Given the description of an element on the screen output the (x, y) to click on. 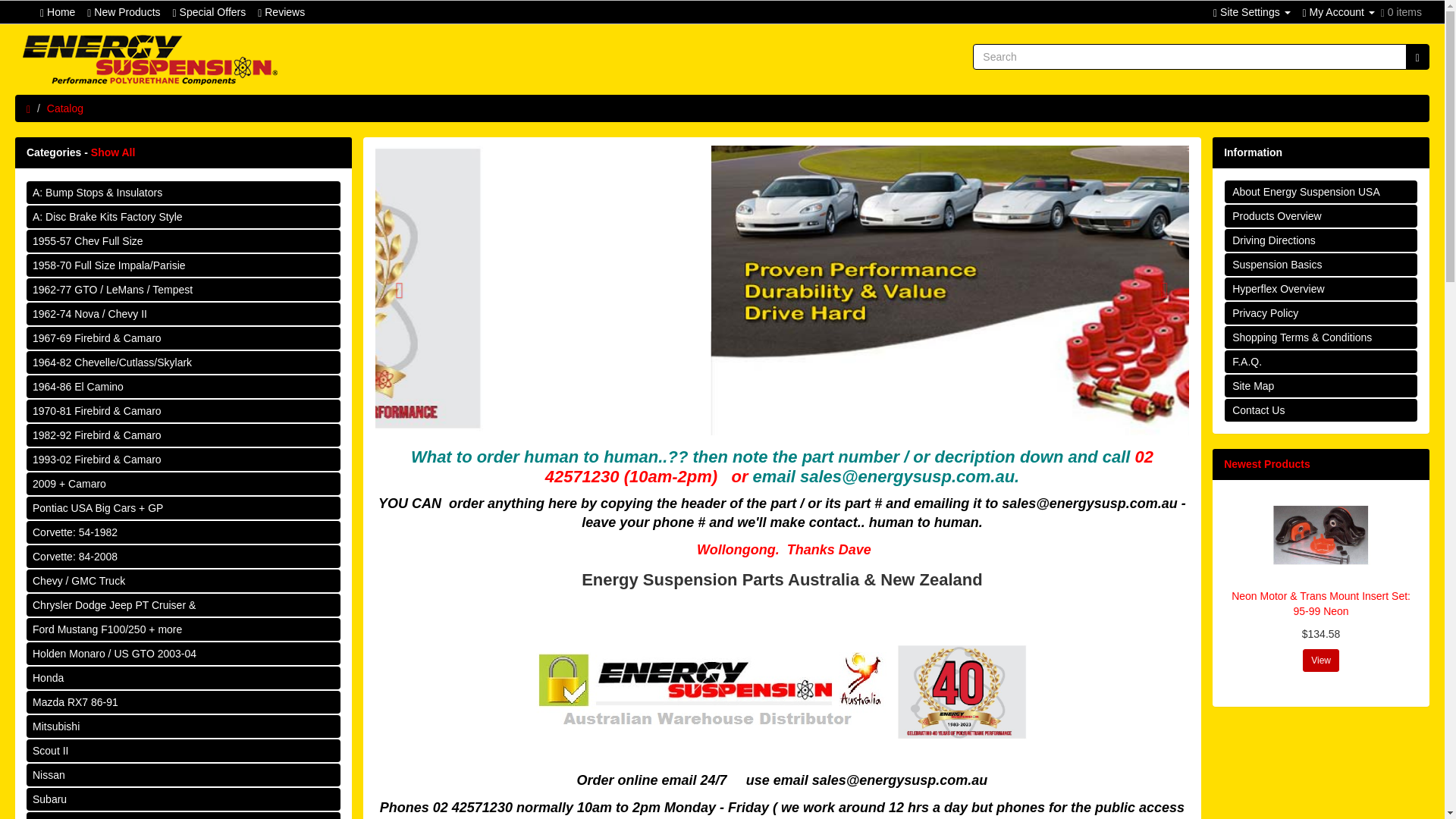
A: Bump Stops & Insulators Element type: text (183, 192)
1964-82 Chevelle/Cutlass/Skylark Element type: text (183, 362)
Honda Element type: text (183, 677)
Chrysler Dodge Jeep PT Cruiser & Element type: text (183, 604)
Reviews Element type: text (280, 11)
Suspension Basics Element type: text (1320, 264)
My Account Element type: text (1338, 11)
1962-77 GTO / LeMans / Tempest Element type: text (183, 289)
Pontiac USA Big Cars + GP Element type: text (183, 507)
Mazda RX7 86-91 Element type: text (183, 701)
Nissan Element type: text (183, 774)
1955-57 Chev Full Size Element type: text (183, 240)
2009 + Camaro Element type: text (183, 483)
1970-81 Firebird & Camaro Element type: text (183, 410)
Special Offers Element type: text (209, 11)
1958-70 Full Size Impala/Parisie Element type: text (183, 265)
Scout II Element type: text (183, 750)
Holden Monaro / US GTO 2003-04 Element type: text (183, 653)
1964-86 El Camino Element type: text (183, 386)
Contact Us Element type: text (1320, 409)
Subaru Element type: text (183, 798)
Chevy / GMC Truck Element type: text (183, 580)
1962-74 Nova / Chevy II Element type: text (183, 313)
Newest Products Element type: text (1266, 464)
F.A.Q. Element type: text (1320, 361)
View Element type: text (1320, 660)
Site Map Element type: text (1320, 385)
1993-02 Firebird & Camaro Element type: text (183, 459)
Mitsubishi Element type: text (183, 726)
Shopping Terms & Conditions Element type: text (1320, 337)
About Energy Suspension USA Element type: text (1320, 191)
Products Overview Element type: text (1320, 215)
Neon Motor & Trans Mount Insert Set: 95-99 Neon Element type: hover (1320, 535)
1982-92 Firebird & Camaro Element type: text (183, 434)
New Products Element type: text (123, 11)
Home Element type: text (57, 11)
Privacy Policy Element type: text (1320, 312)
Show All Element type: text (113, 152)
1967-69 Firebird & Camaro Element type: text (183, 337)
Neon Motor & Trans Mount Insert Set: 95-99 Neon Element type: text (1320, 603)
Driving Directions Element type: text (1320, 240)
Energy Suspension Australian Supplier Element type: hover (150, 59)
Corvette: 54-1982 Element type: text (183, 531)
Hyperflex Overview Element type: text (1320, 288)
A: Disc Brake Kits Factory Style Element type: text (183, 216)
Ford Mustang F100/250 + more Element type: text (183, 629)
Site Settings Element type: text (1251, 11)
Corvette: 84-2008 Element type: text (183, 556)
Catalog Element type: text (65, 108)
